Given the description of an element on the screen output the (x, y) to click on. 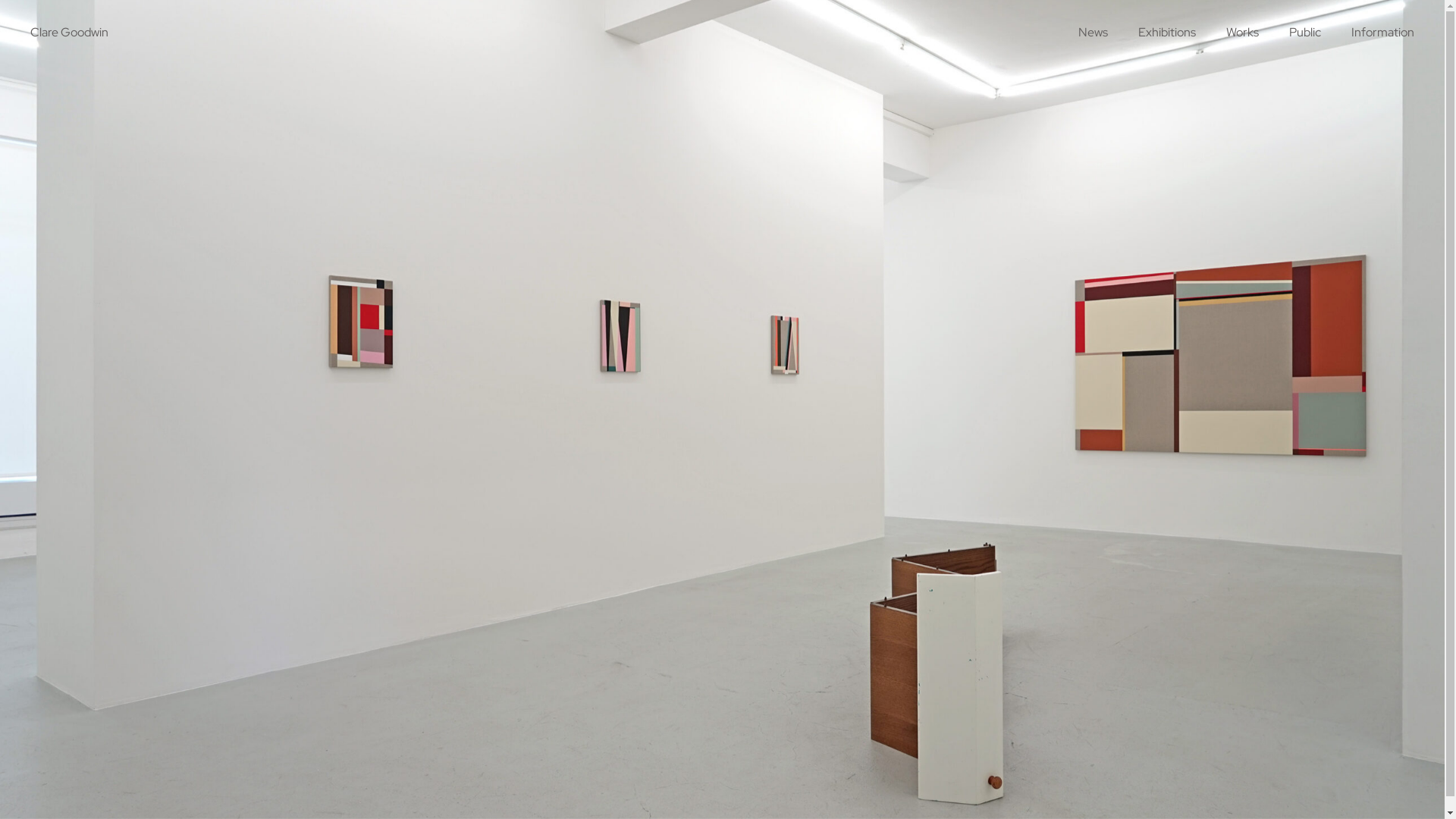
Information Element type: text (1382, 32)
News Element type: text (1093, 32)
Clare Goodwin Element type: text (69, 32)
Exhibitions Element type: text (1167, 32)
Public Element type: text (1305, 32)
Works Element type: text (1242, 32)
